Given the description of an element on the screen output the (x, y) to click on. 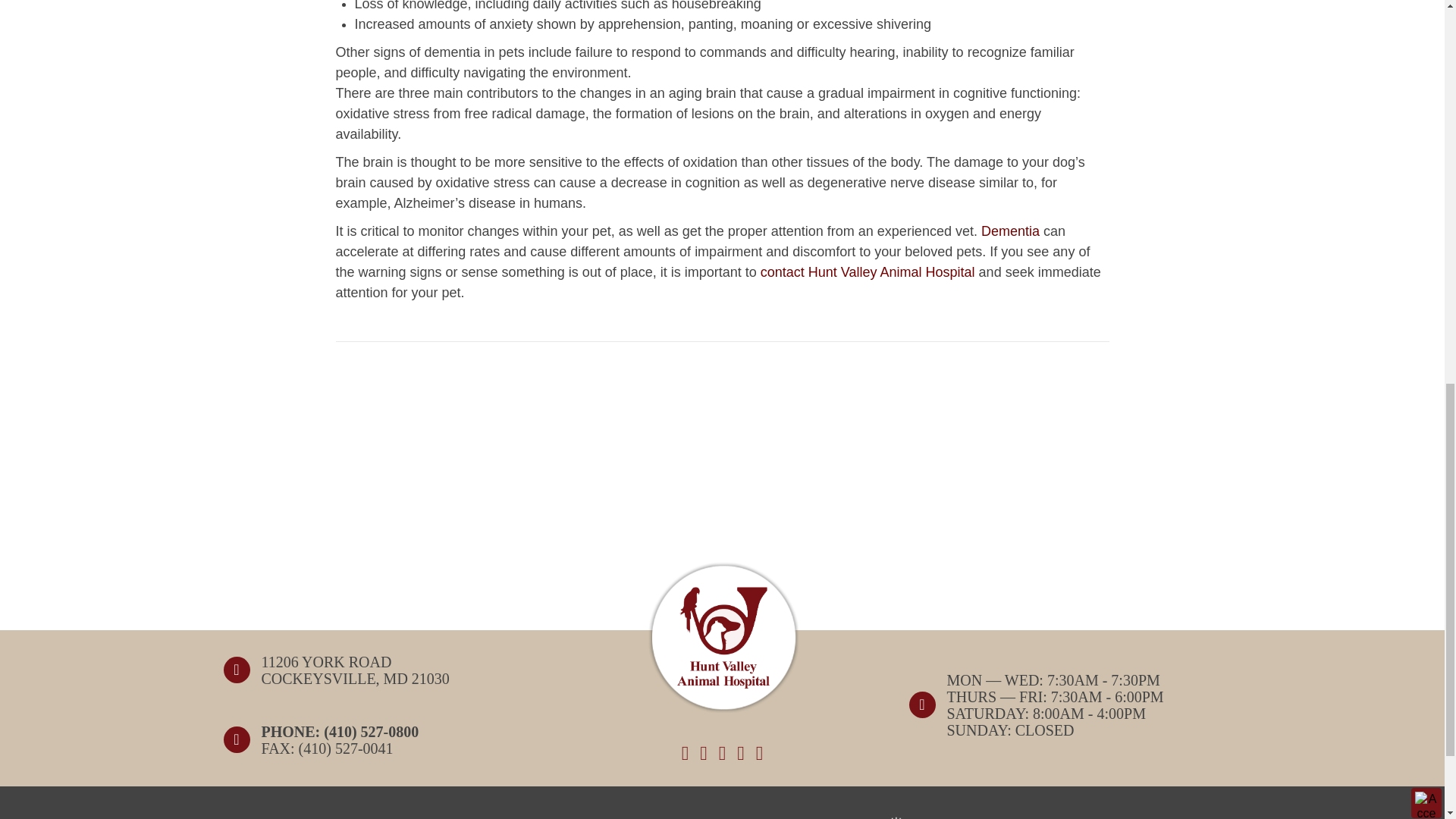
care-credit-logo-white (512, 817)
scratchpay-white (930, 817)
